Given the description of an element on the screen output the (x, y) to click on. 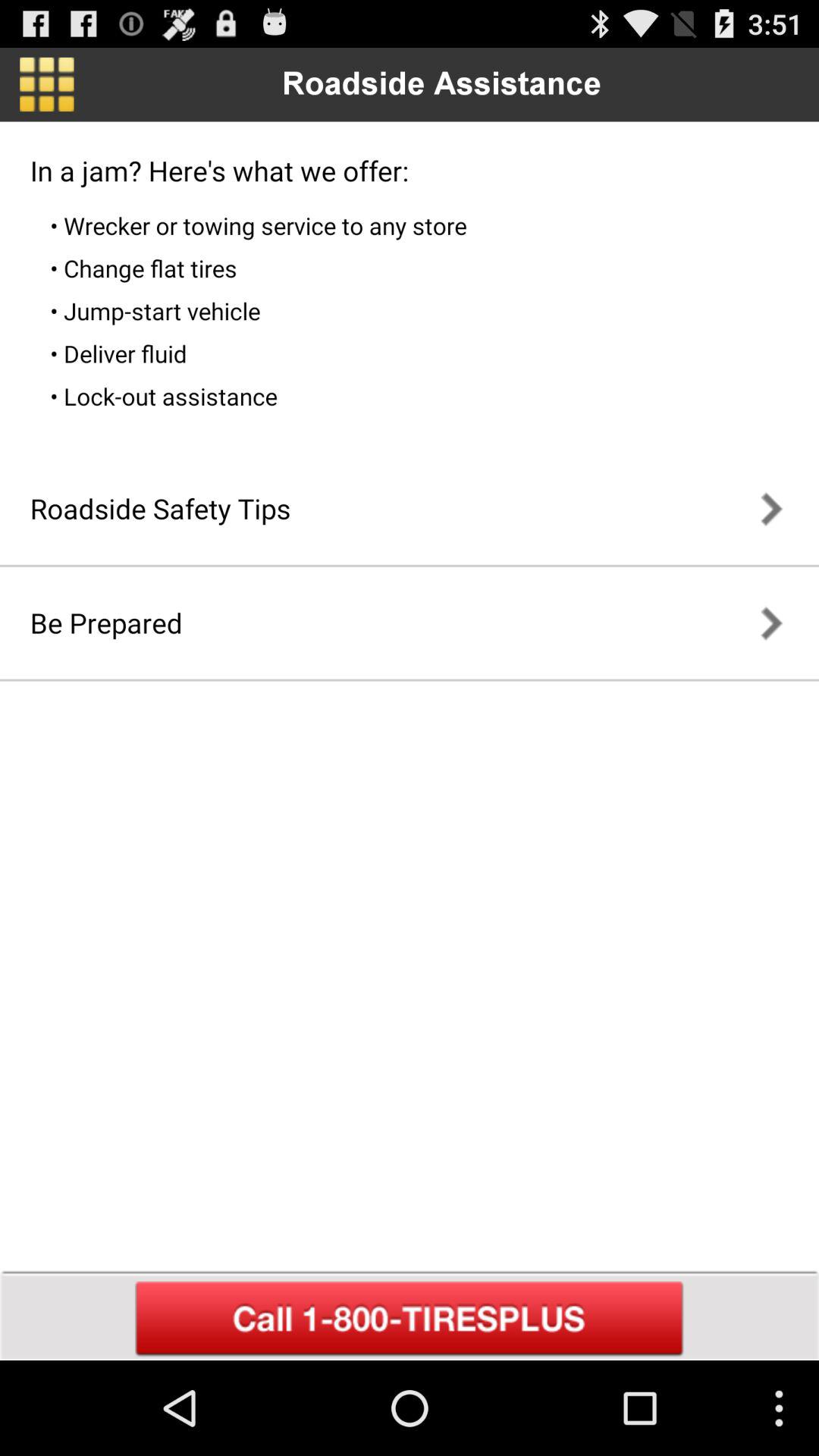
click the app above be prepared icon (160, 508)
